Given the description of an element on the screen output the (x, y) to click on. 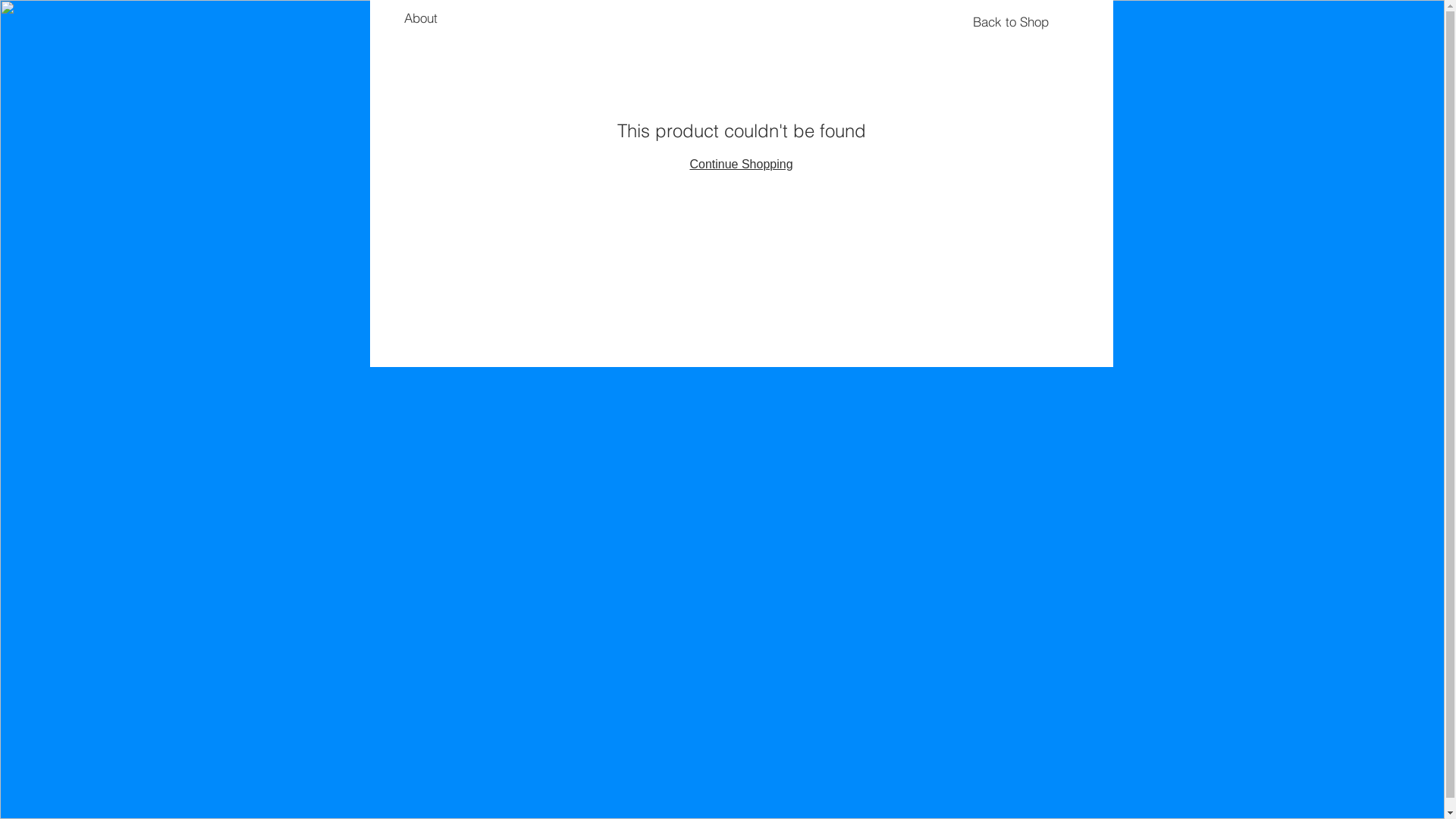
About Element type: text (419, 17)
Back to Shop Element type: text (1010, 21)
Continue Shopping Element type: text (740, 163)
